Given the description of an element on the screen output the (x, y) to click on. 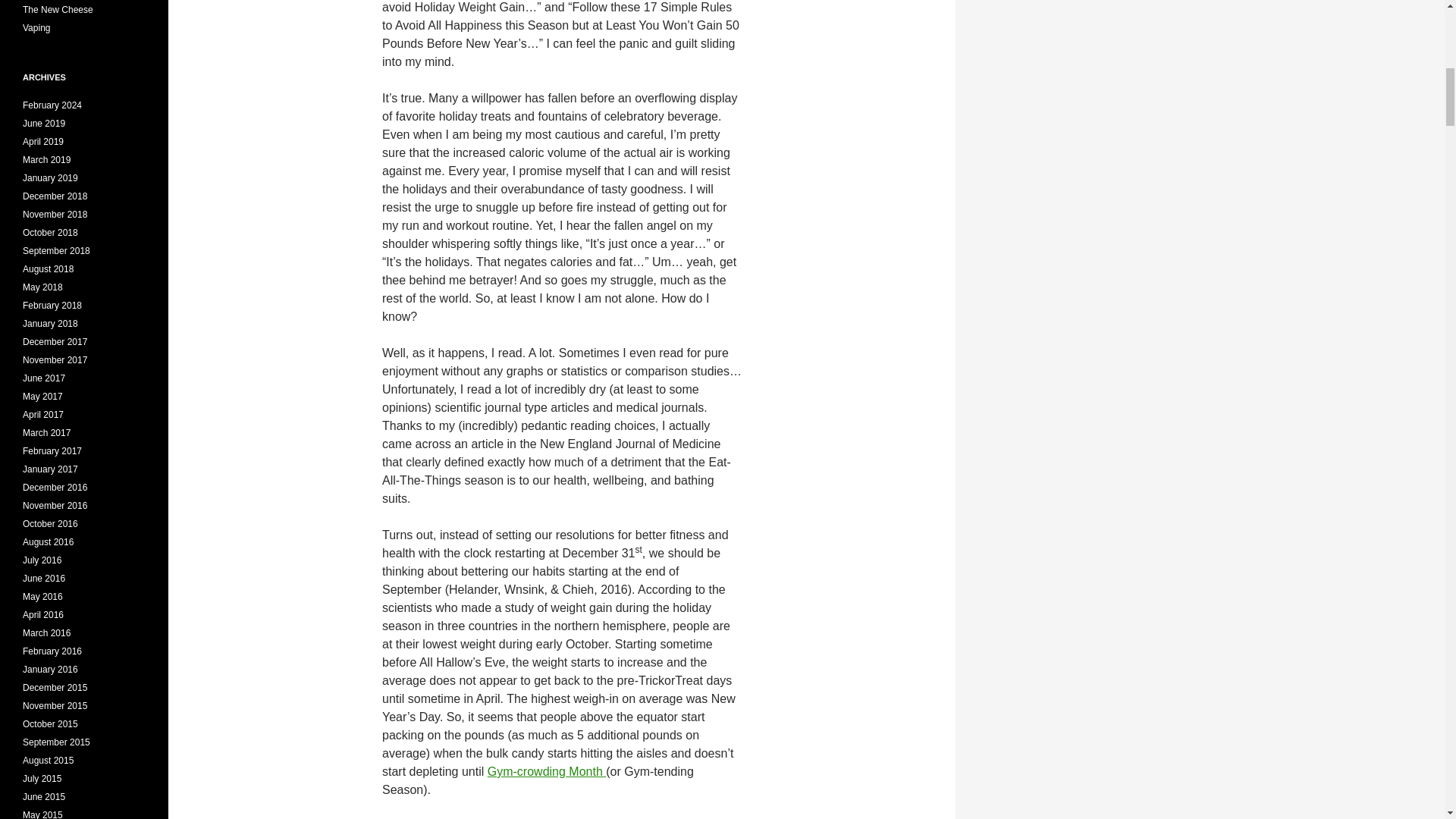
Gym-crowding Month (547, 771)
